Given the description of an element on the screen output the (x, y) to click on. 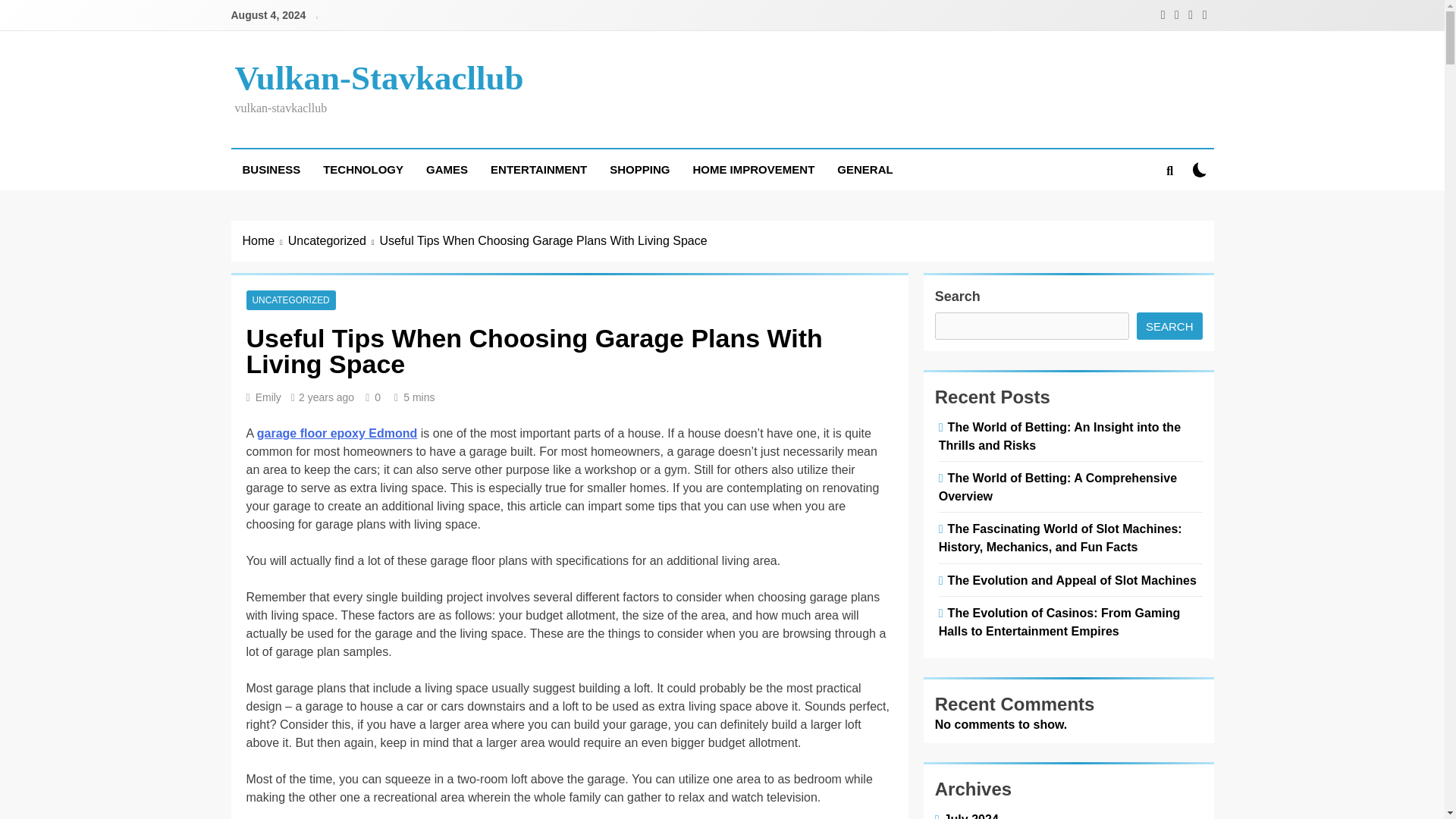
Vulkan-Stavkacllub (379, 77)
GENERAL (864, 169)
Home (265, 240)
HOME IMPROVEMENT (753, 169)
garage floor epoxy Edmond (337, 432)
Emily (268, 397)
Uncategorized (334, 240)
SEARCH (1169, 325)
ENTERTAINMENT (538, 169)
GAMES (446, 169)
2 years ago (325, 397)
The World of Betting: An Insight into the Thrills and Risks (1059, 436)
BUSINESS (270, 169)
TECHNOLOGY (362, 169)
